Given the description of an element on the screen output the (x, y) to click on. 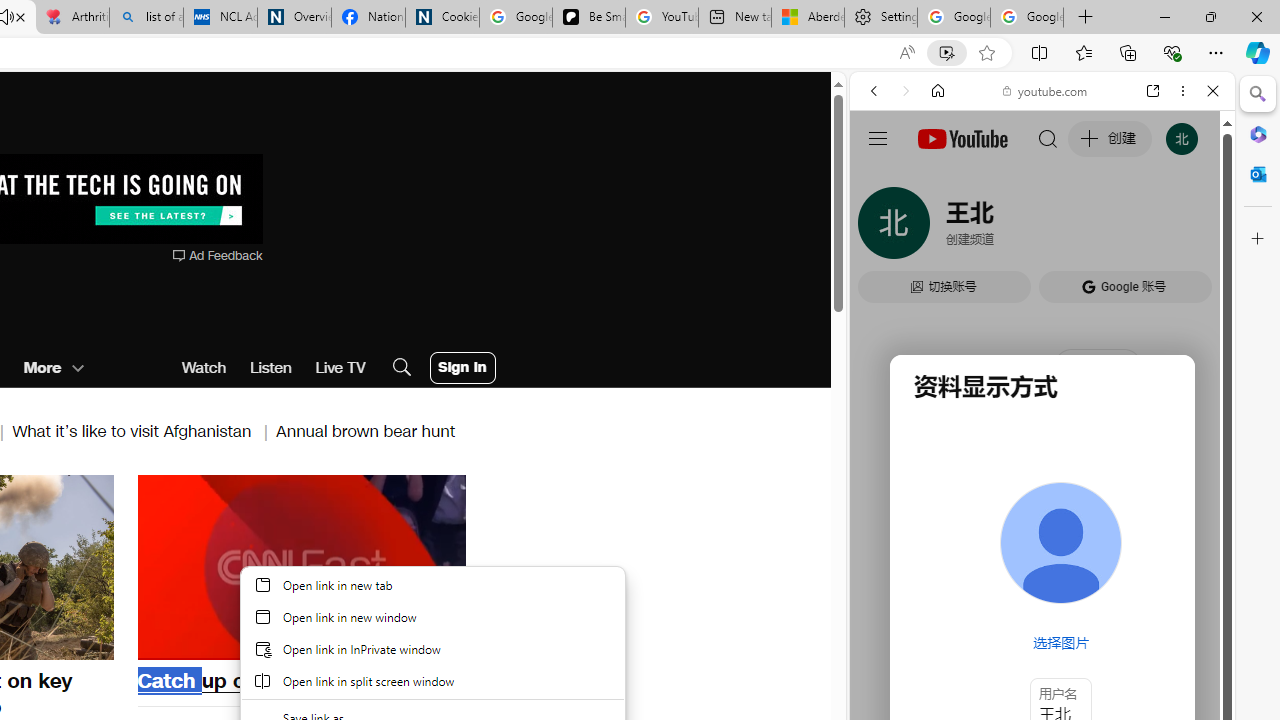
Search Filter, Search Tools (1093, 228)
SEARCH TOOLS (1093, 228)
Forward 10 seconds (361, 566)
Forward 10 seconds (361, 565)
Mute (164, 642)
Search Filter, WEB (882, 228)
Aberdeen, Hong Kong SAR hourly forecast | Microsoft Weather (807, 17)
